Given the description of an element on the screen output the (x, y) to click on. 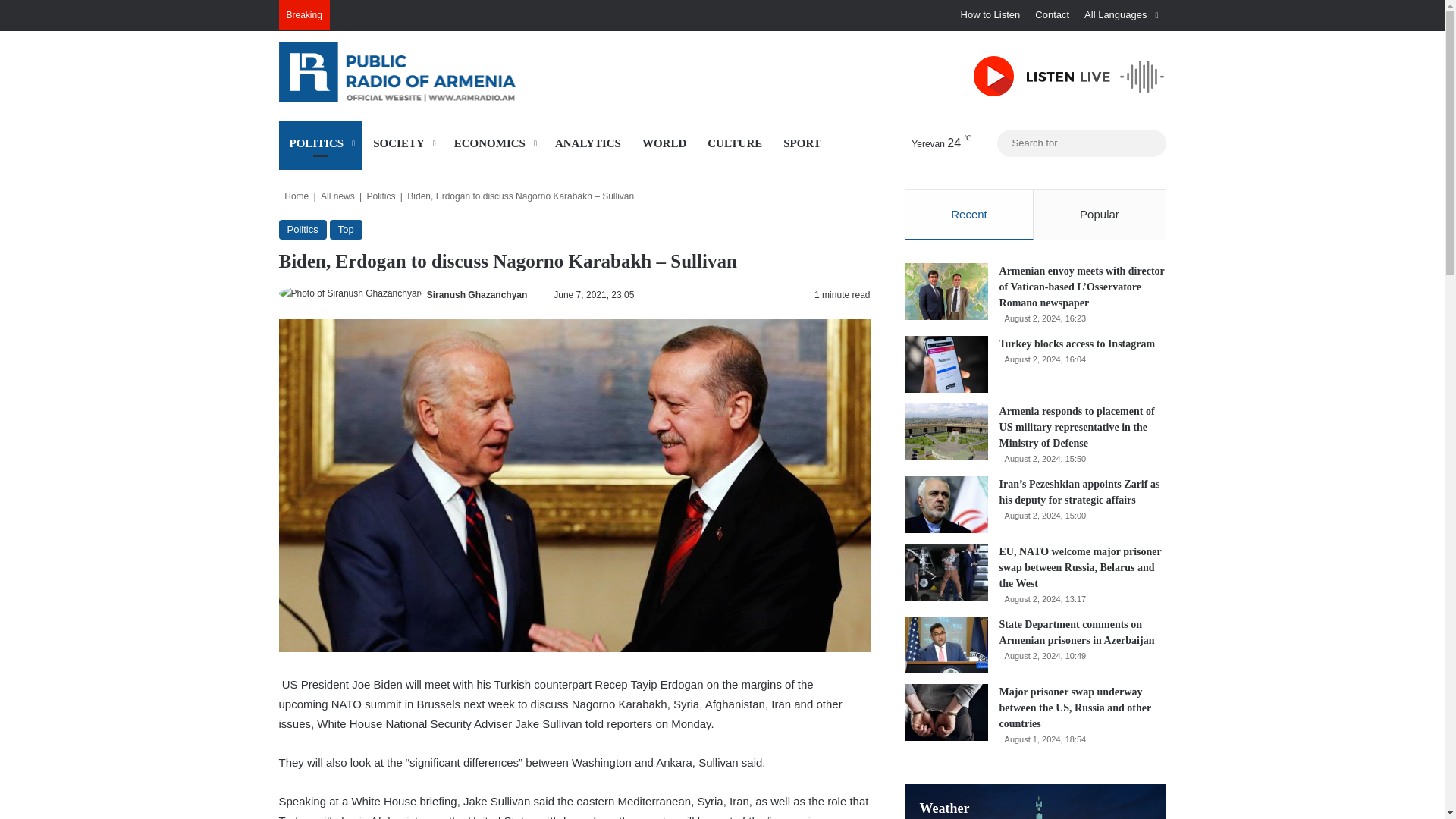
SPORT (802, 143)
SOCIETY (403, 143)
How to Listen (990, 15)
Public Radio of Armenia (419, 71)
Light Rain (926, 142)
CULTURE (735, 143)
Search for (1150, 143)
ANALYTICS (587, 143)
ECONOMICS (494, 143)
Politics (302, 229)
